Given the description of an element on the screen output the (x, y) to click on. 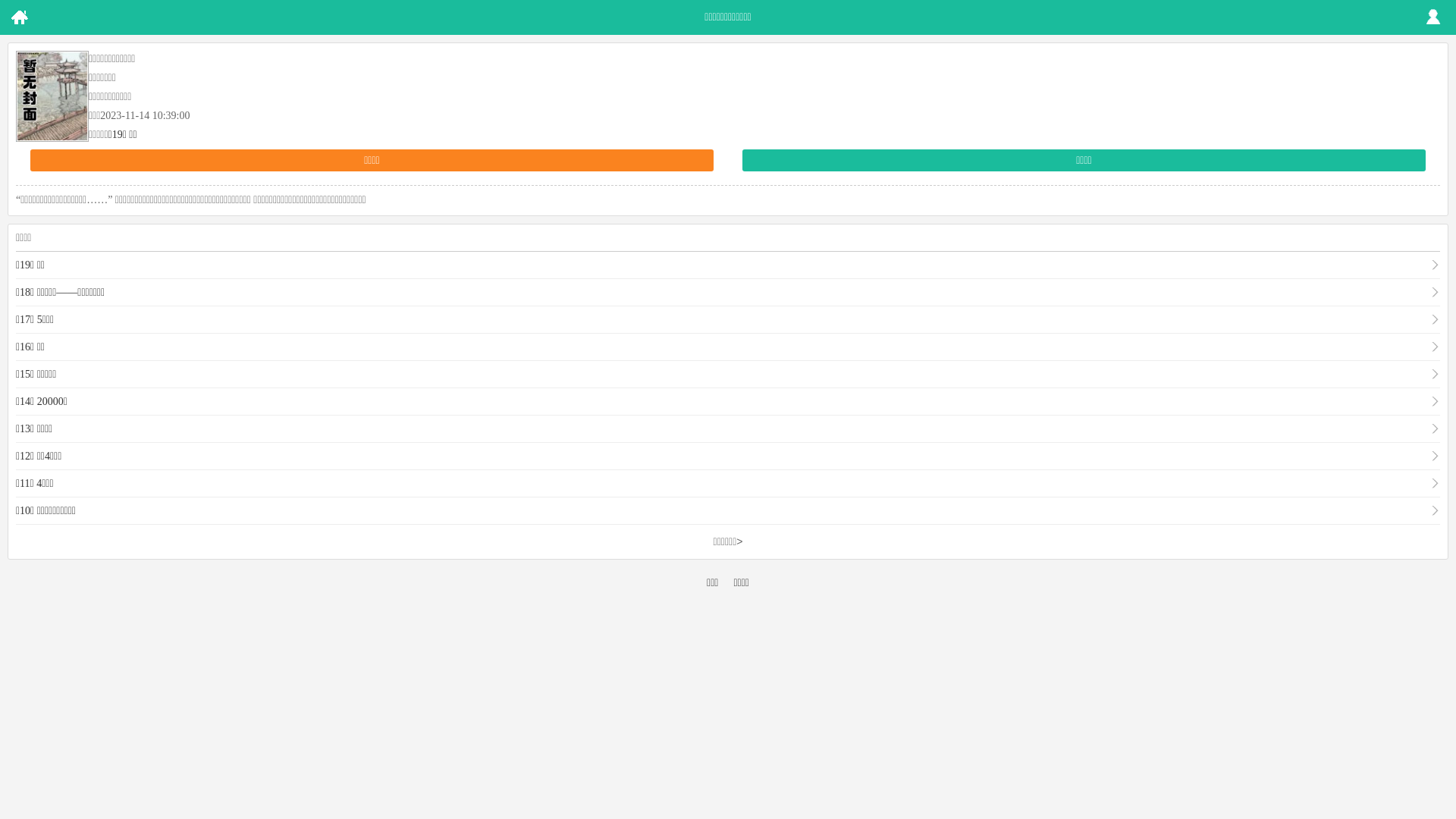
  Element type: text (1433, 17)
  Element type: text (18, 17)
